Given the description of an element on the screen output the (x, y) to click on. 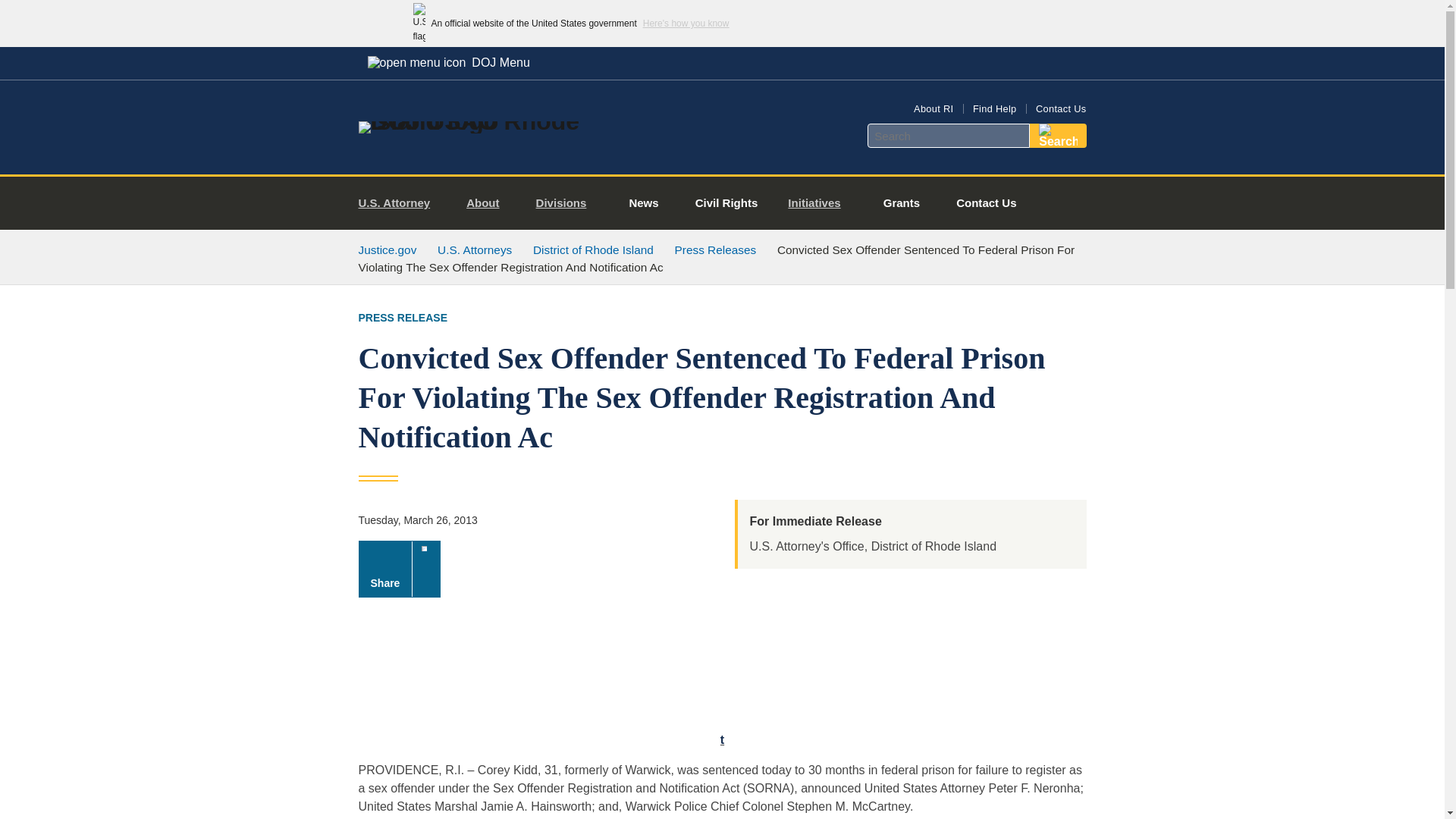
U.S. Attorney (400, 203)
Home (481, 121)
Grants (900, 203)
News (643, 203)
Here's how you know (686, 23)
Justice.gov (387, 249)
About (488, 203)
Civil Rights (726, 203)
Contact Us (1060, 108)
DOJ Menu (448, 62)
Civil Rights Program (726, 203)
Divisions (567, 203)
Find Help (994, 108)
District of Rhode Island (592, 249)
Contact Us (985, 203)
